Given the description of an element on the screen output the (x, y) to click on. 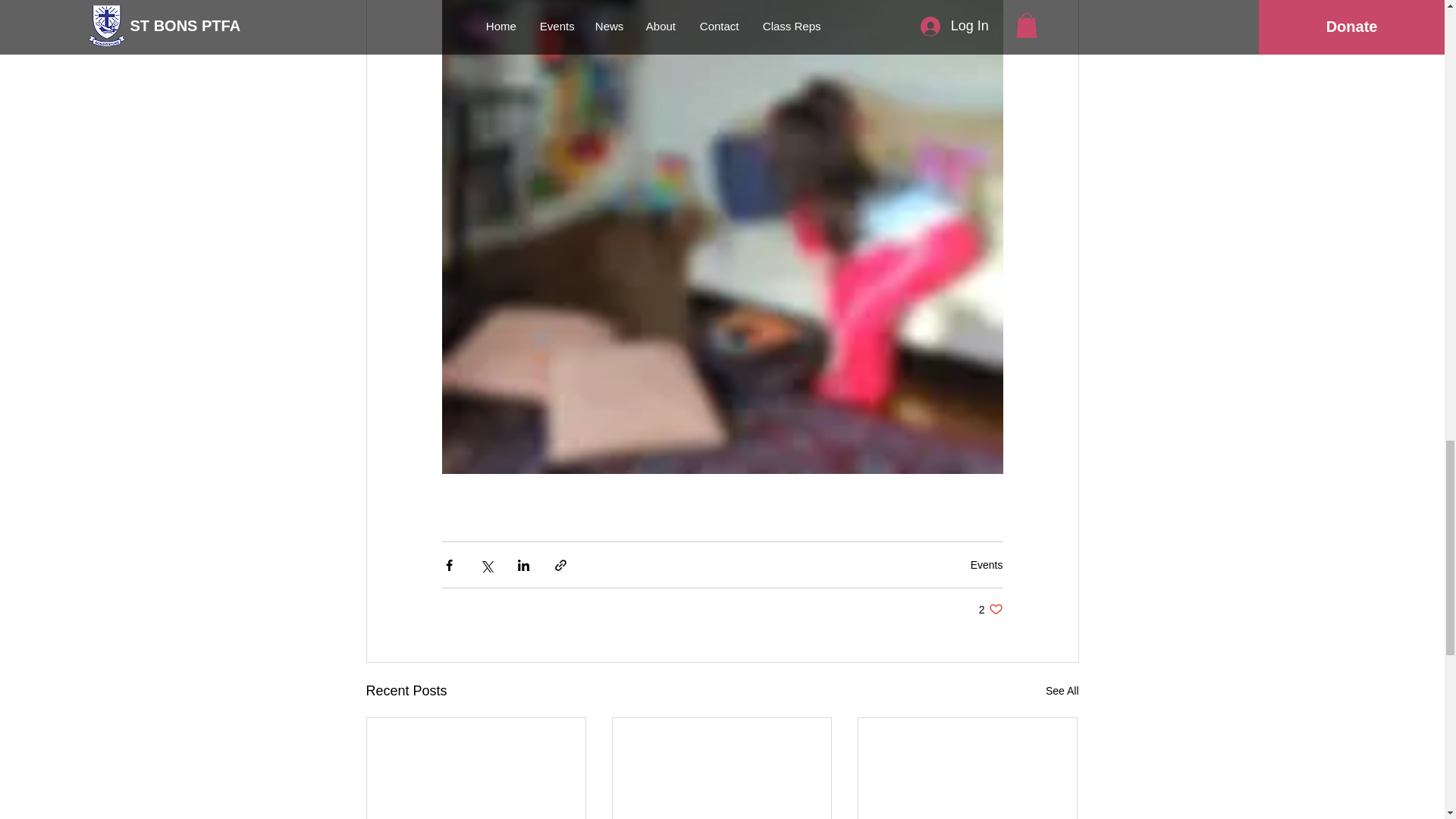
Events (990, 608)
See All (987, 564)
